Given the description of an element on the screen output the (x, y) to click on. 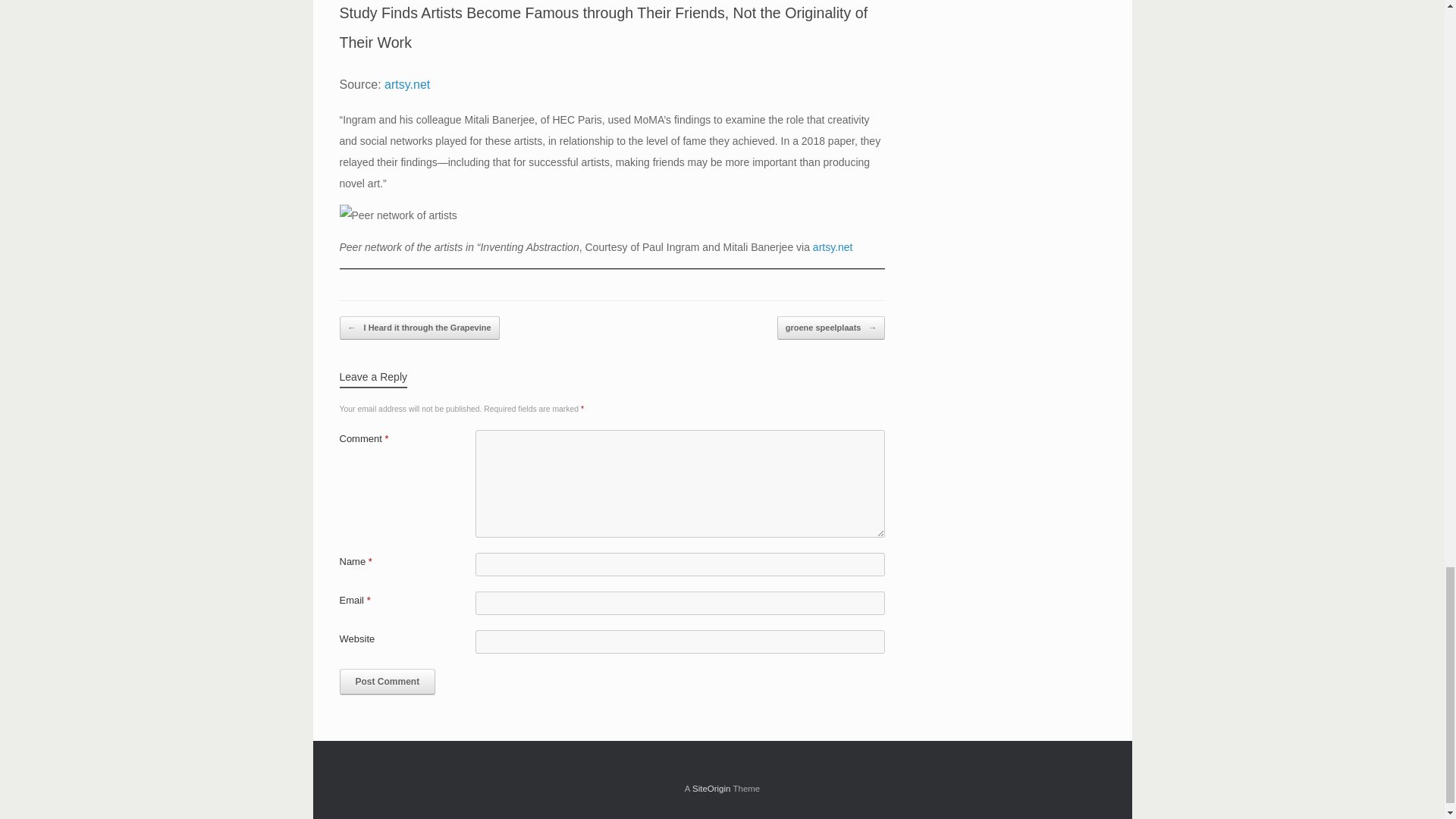
artsy.net (832, 246)
Post Comment (387, 681)
SiteOrigin (711, 788)
artsy.net (406, 83)
Post Comment (387, 681)
